Given the description of an element on the screen output the (x, y) to click on. 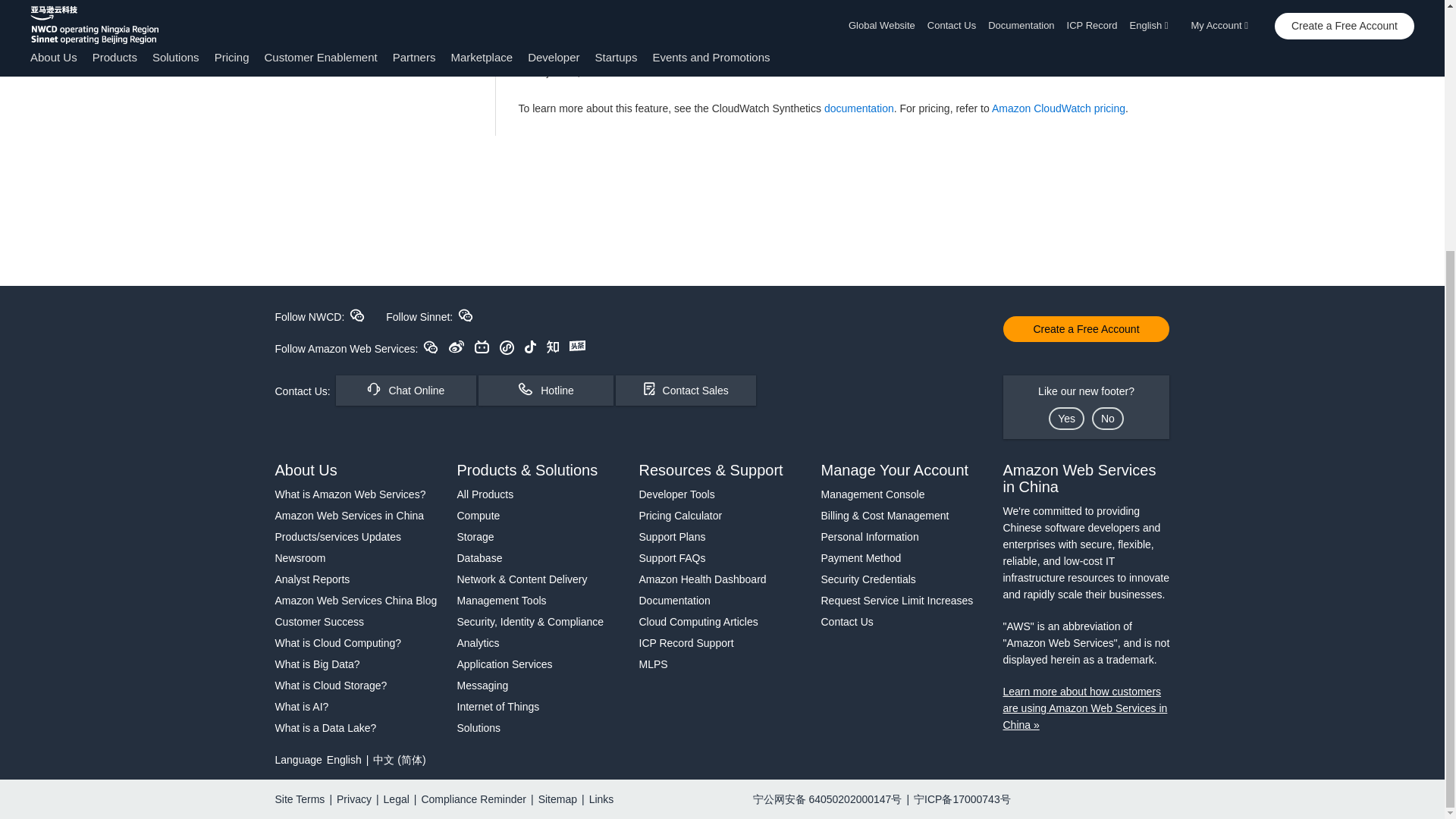
Bilibili (481, 346)
TouTiao (577, 345)
ZhiHu (553, 346)
Sinnet (465, 315)
NWCD (357, 315)
WeChat public account (430, 346)
Applets (506, 347)
SinaWeiBo (456, 346)
